Given the description of an element on the screen output the (x, y) to click on. 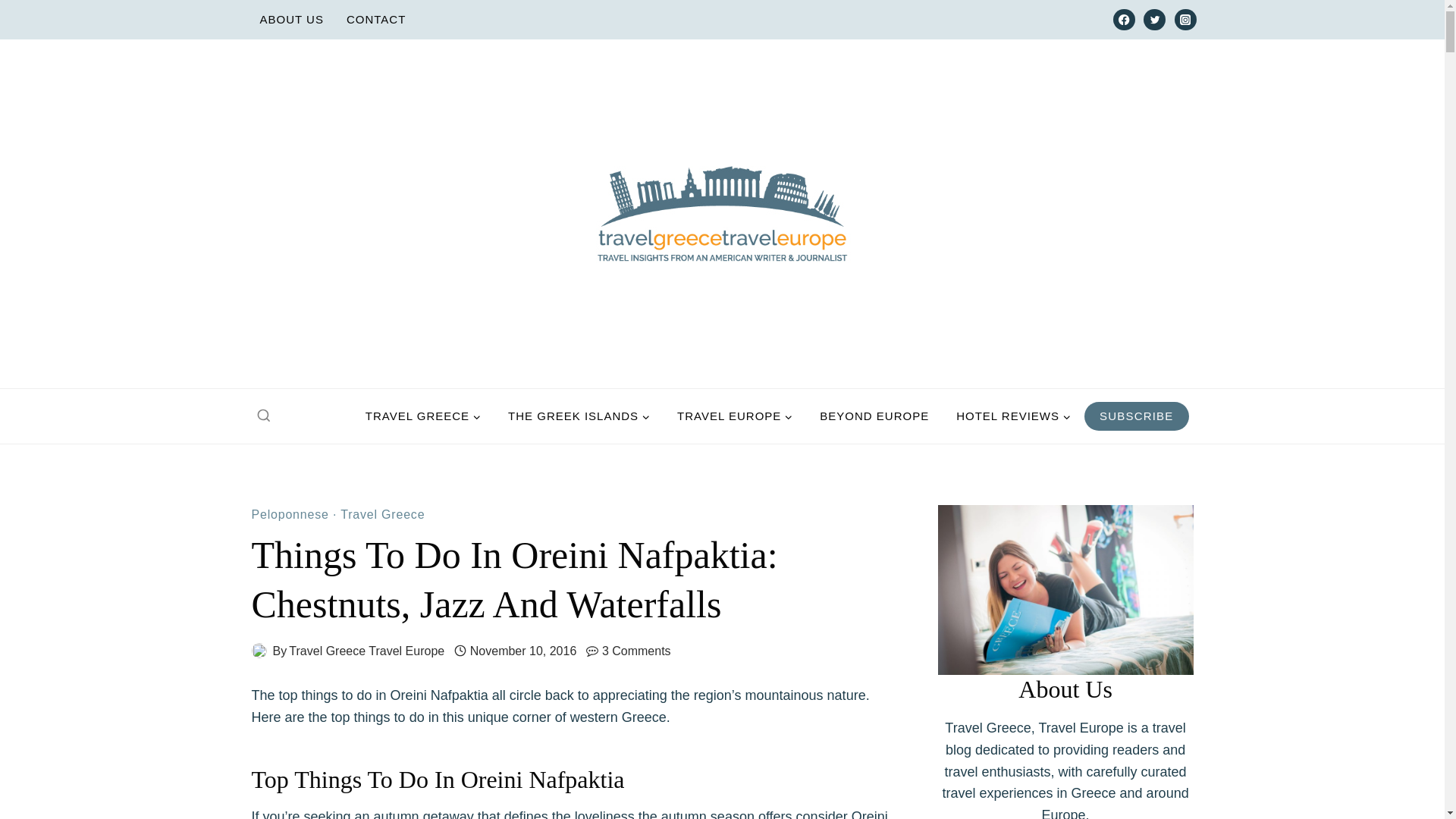
ABOUT US (291, 20)
THE GREEK ISLANDS (579, 416)
TRAVEL GREECE (423, 416)
3 Comments (636, 650)
CONTACT (375, 20)
